Given the description of an element on the screen output the (x, y) to click on. 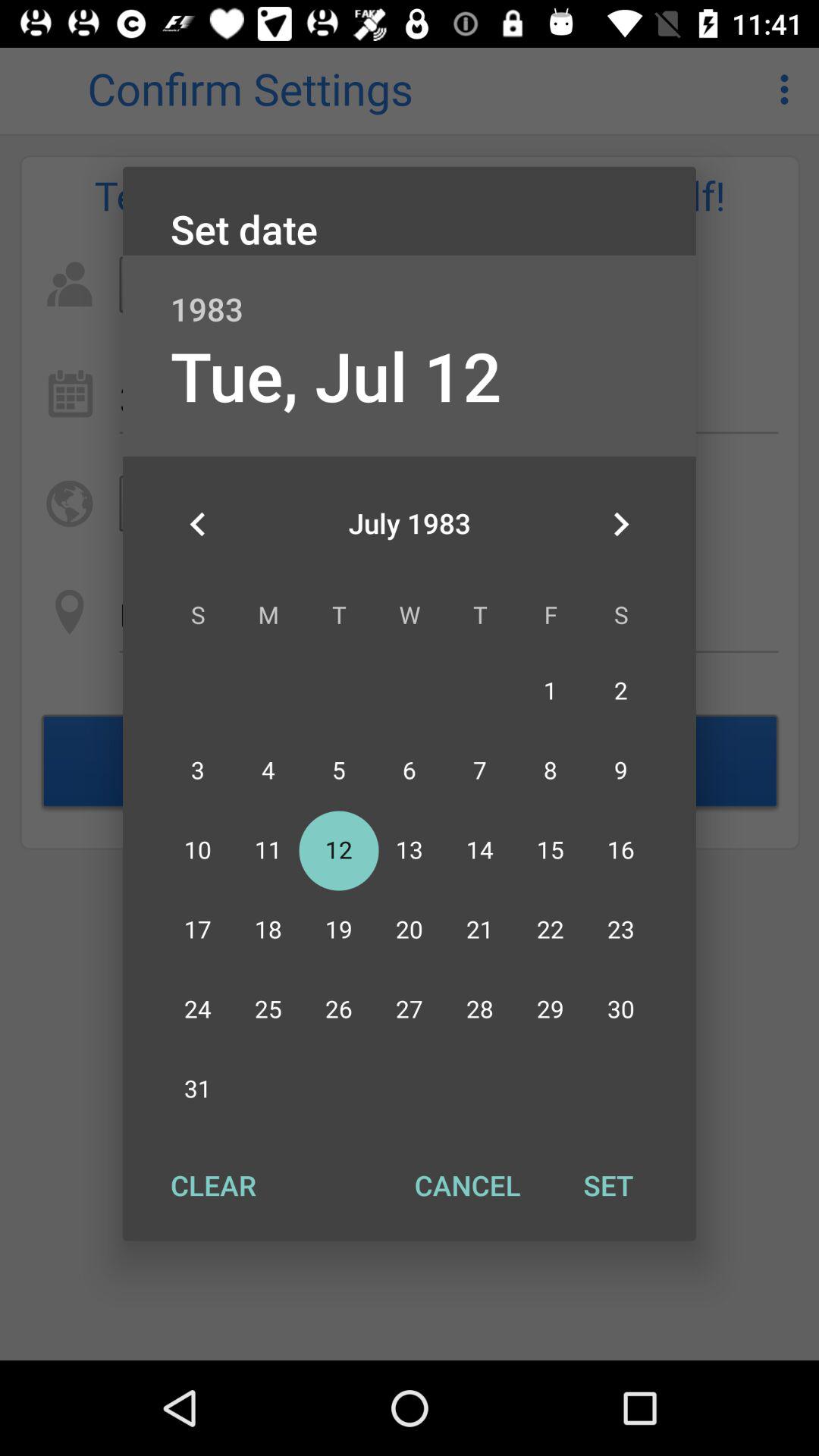
launch the icon above the tue, jul 12 (409, 292)
